Given the description of an element on the screen output the (x, y) to click on. 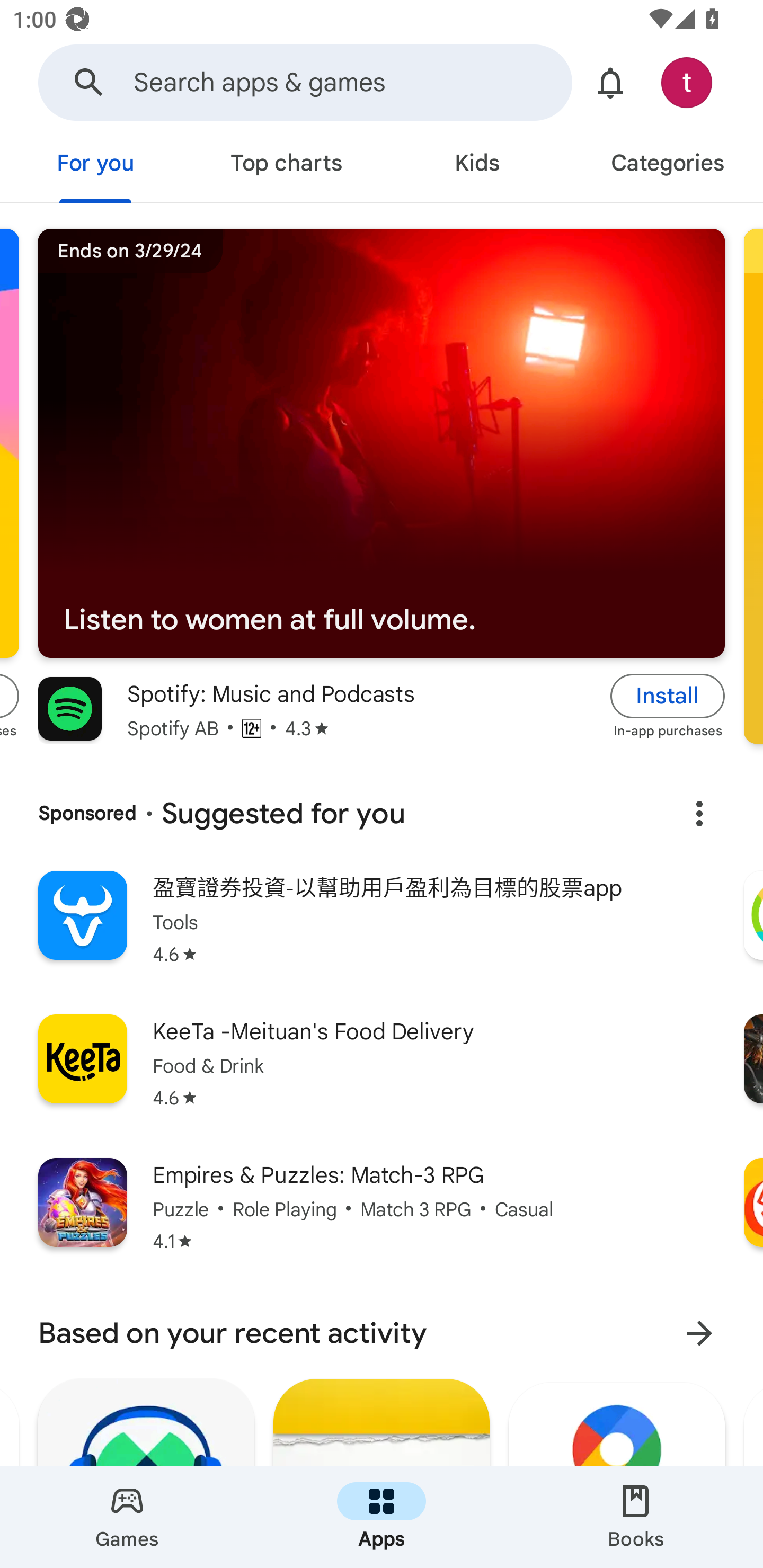
Search Google Play Search apps & games (305, 81)
Search Google Play (89, 81)
Show notifications and offers. (610, 81)
Top charts (285, 165)
Kids (476, 165)
Categories (667, 165)
Listen to women at full volume. Ends on 3/29/24 (381, 443)
Install (667, 695)
About this ad (699, 813)
盈寶證券投資-以幫助用戶盈利為目標的股票app
Tools
Star rating: 4.6
 (381, 929)
More results for Based on your recent activity (699, 1333)
Games (127, 1517)
Books (635, 1517)
